Given the description of an element on the screen output the (x, y) to click on. 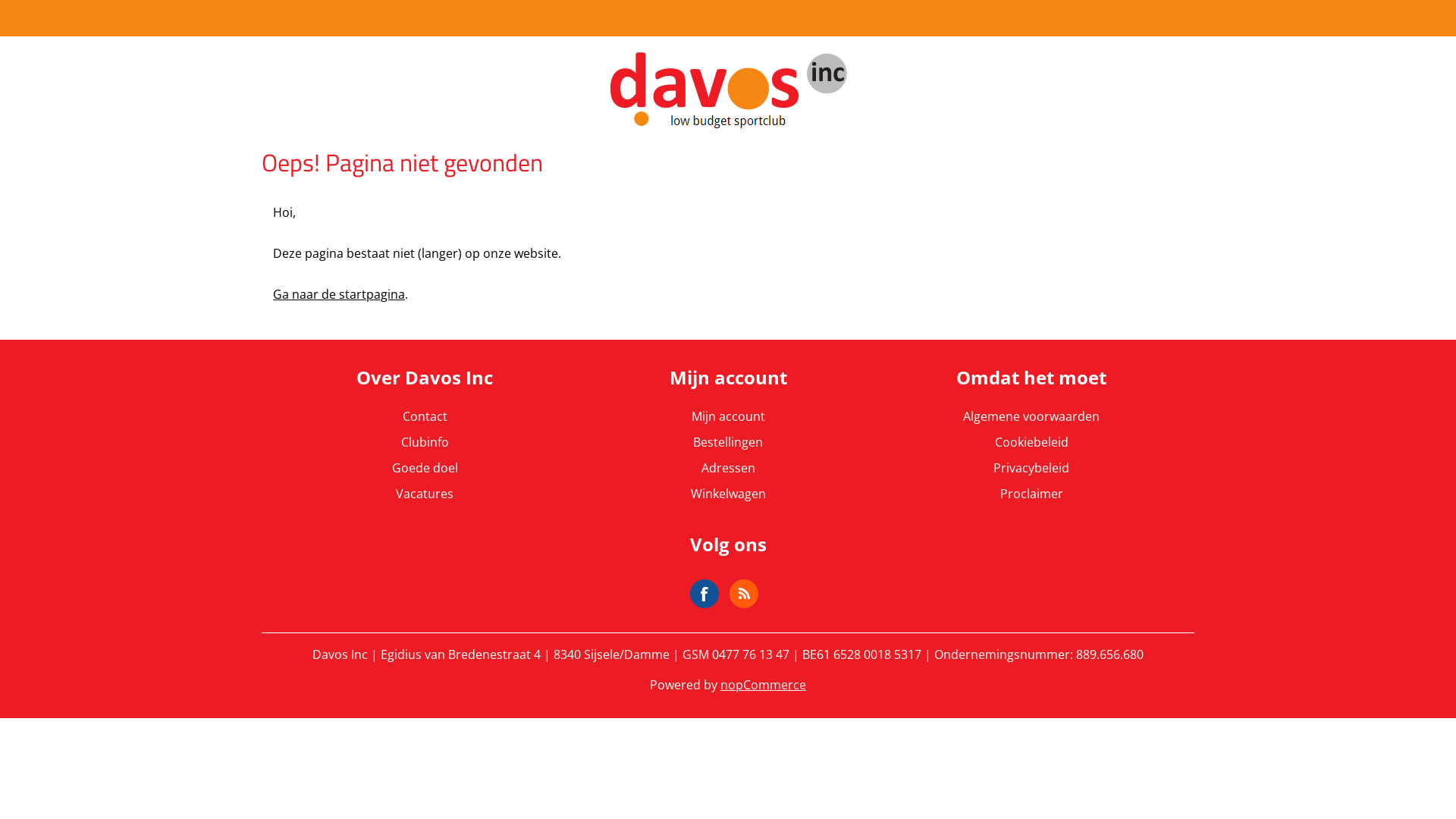
Clubinfo Element type: text (424, 441)
Proclaimer Element type: text (1030, 493)
Facebook Element type: text (704, 593)
Contact Element type: text (423, 415)
Mijn account Element type: text (728, 415)
Winkelwagen Element type: text (727, 493)
Adressen Element type: text (727, 467)
Ga naar de startpagina Element type: text (338, 293)
Privacybeleid Element type: text (1031, 467)
0477 76 13 47 Element type: text (750, 654)
Algemene voorwaarden Element type: text (1031, 415)
Goede doel Element type: text (424, 467)
nopCommerce Element type: text (763, 684)
Bestellingen Element type: text (727, 441)
Cookiebeleid Element type: text (1031, 441)
RSS Element type: text (743, 593)
Vacatures Element type: text (424, 493)
